Given the description of an element on the screen output the (x, y) to click on. 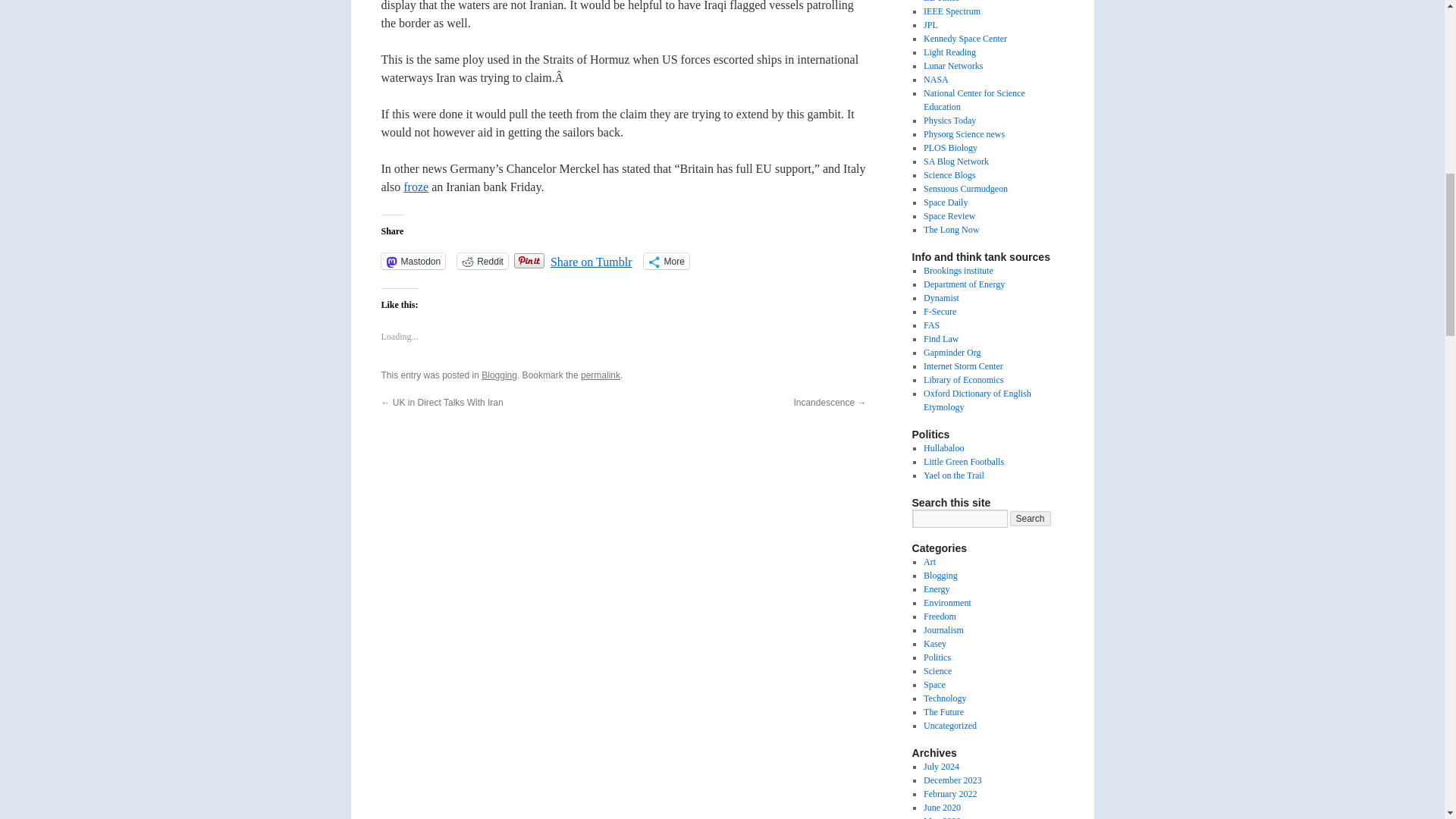
Reddit (482, 261)
Share on Tumblr (590, 259)
Search (1030, 518)
ADN Kronos (415, 186)
froze (415, 186)
Blogging (498, 375)
Share on Tumblr (590, 259)
Click to share on Mastodon (412, 261)
Click to share on Reddit (482, 261)
permalink (600, 375)
